Given the description of an element on the screen output the (x, y) to click on. 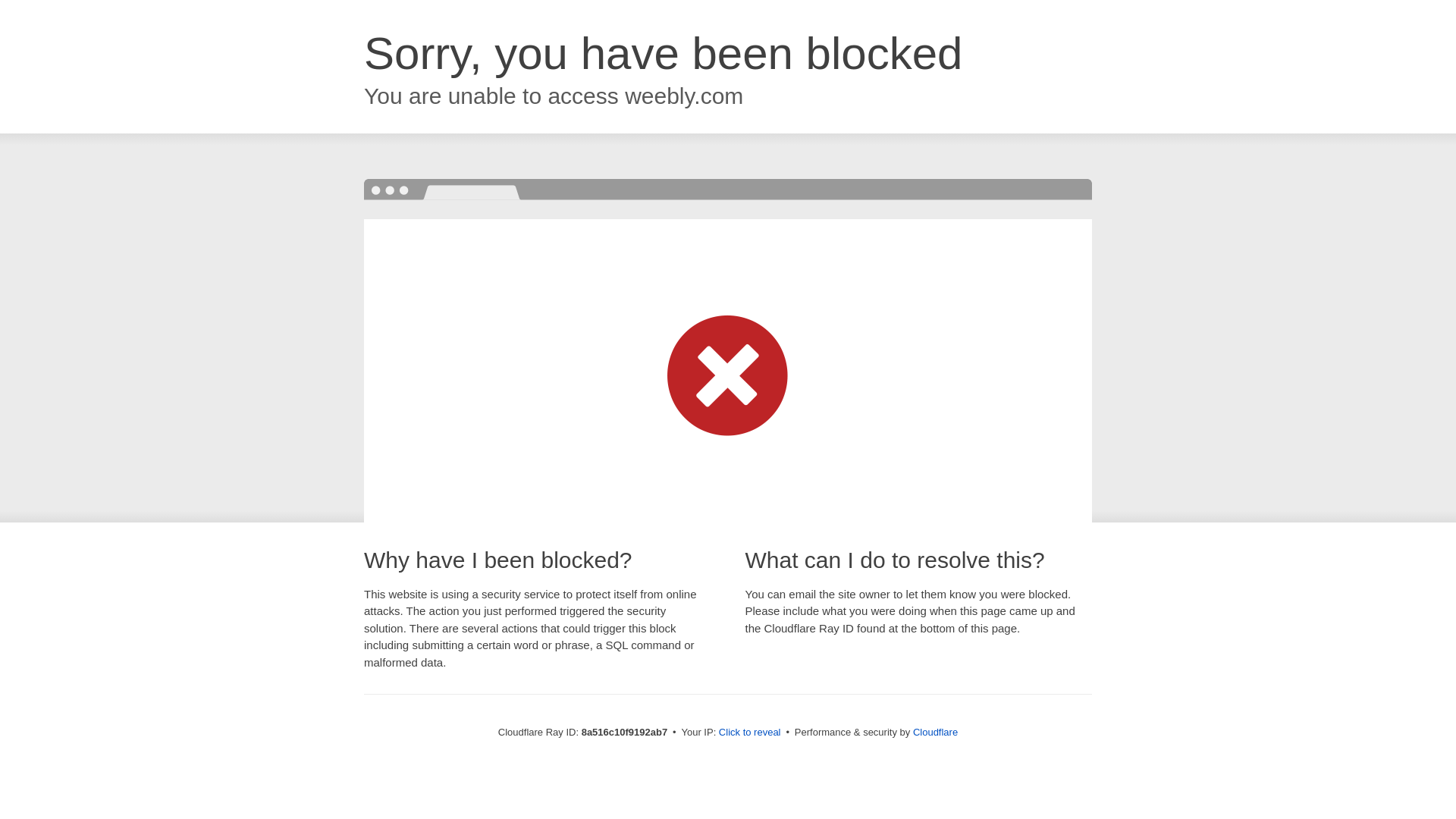
Cloudflare (935, 731)
Click to reveal (749, 732)
